Given the description of an element on the screen output the (x, y) to click on. 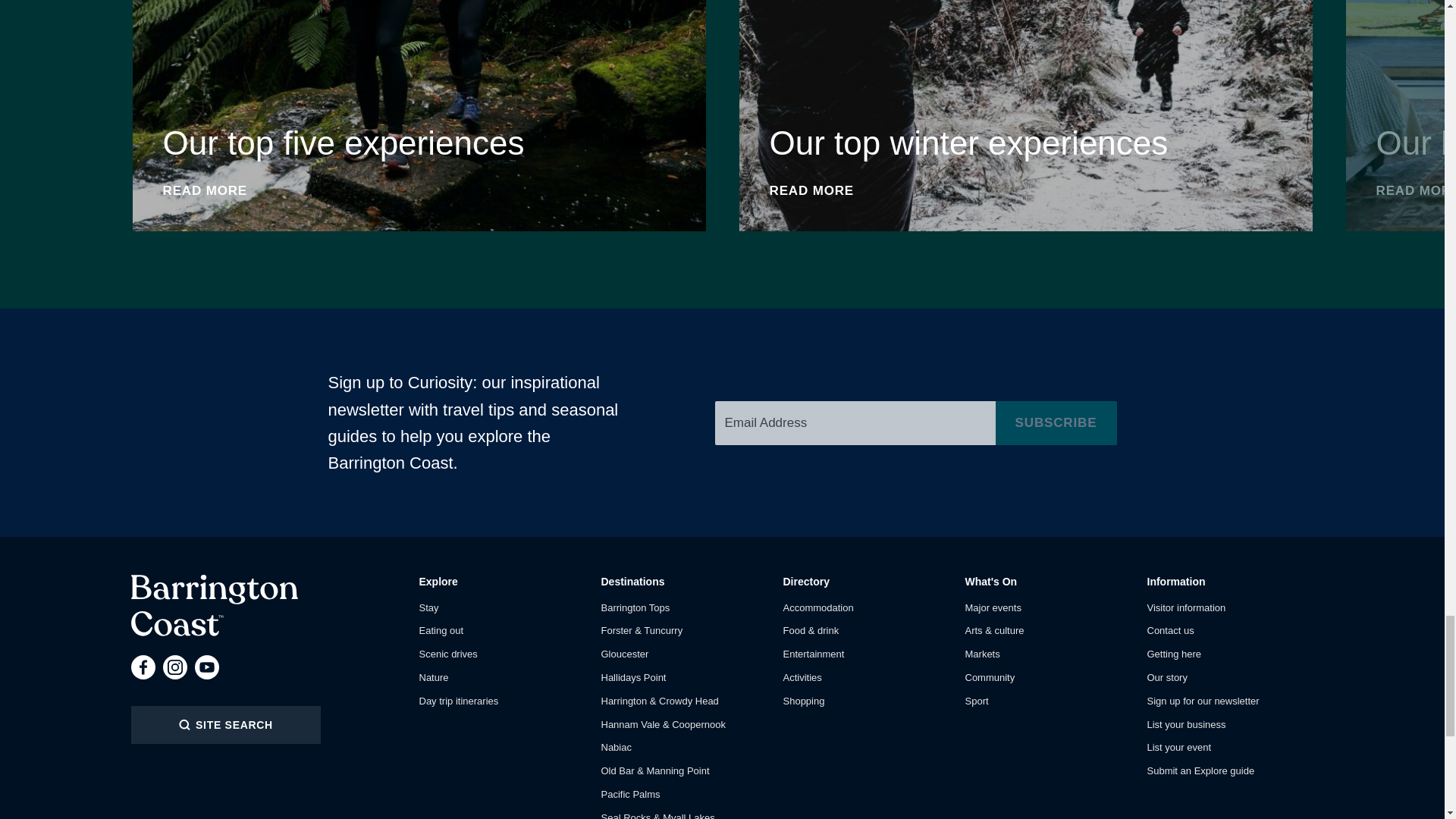
Subscribe (1055, 423)
Instagram (173, 667)
Facebook (214, 605)
Youtube (142, 667)
